Given the description of an element on the screen output the (x, y) to click on. 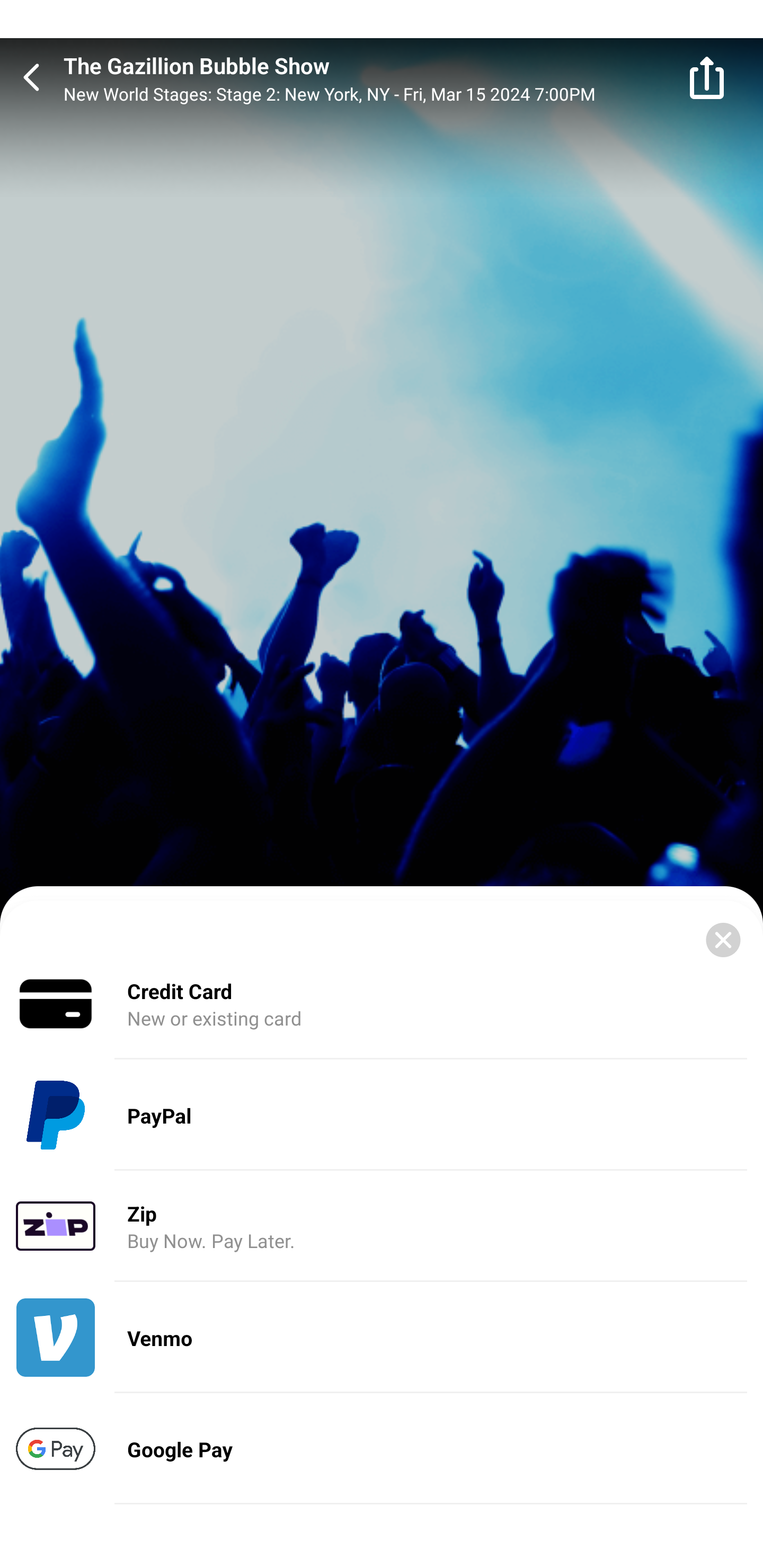
PayPal (381, 1115)
Zip, Buy Now. Pay Later. Zip Buy Now. Pay Later. (381, 1226)
Venmo (381, 1337)
Google Pay (381, 1448)
